Given the description of an element on the screen output the (x, y) to click on. 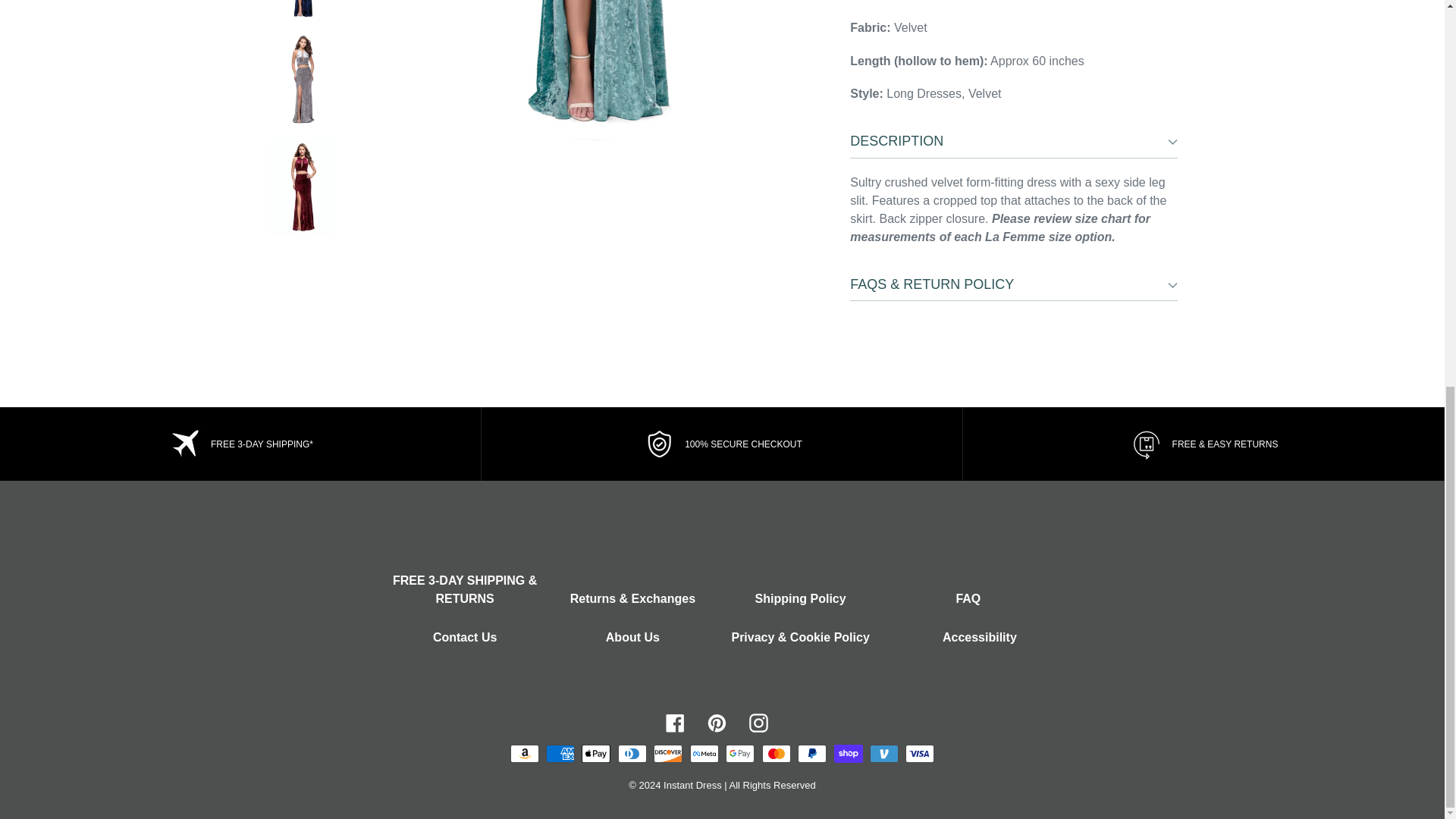
Pinterest (715, 722)
Accessibility (979, 636)
FAQ (967, 598)
Shipping Policy (800, 598)
Instagram (758, 722)
Contact Us (464, 636)
Instant Dress (692, 785)
Facebook (674, 722)
About Us (632, 636)
